Given the description of an element on the screen output the (x, y) to click on. 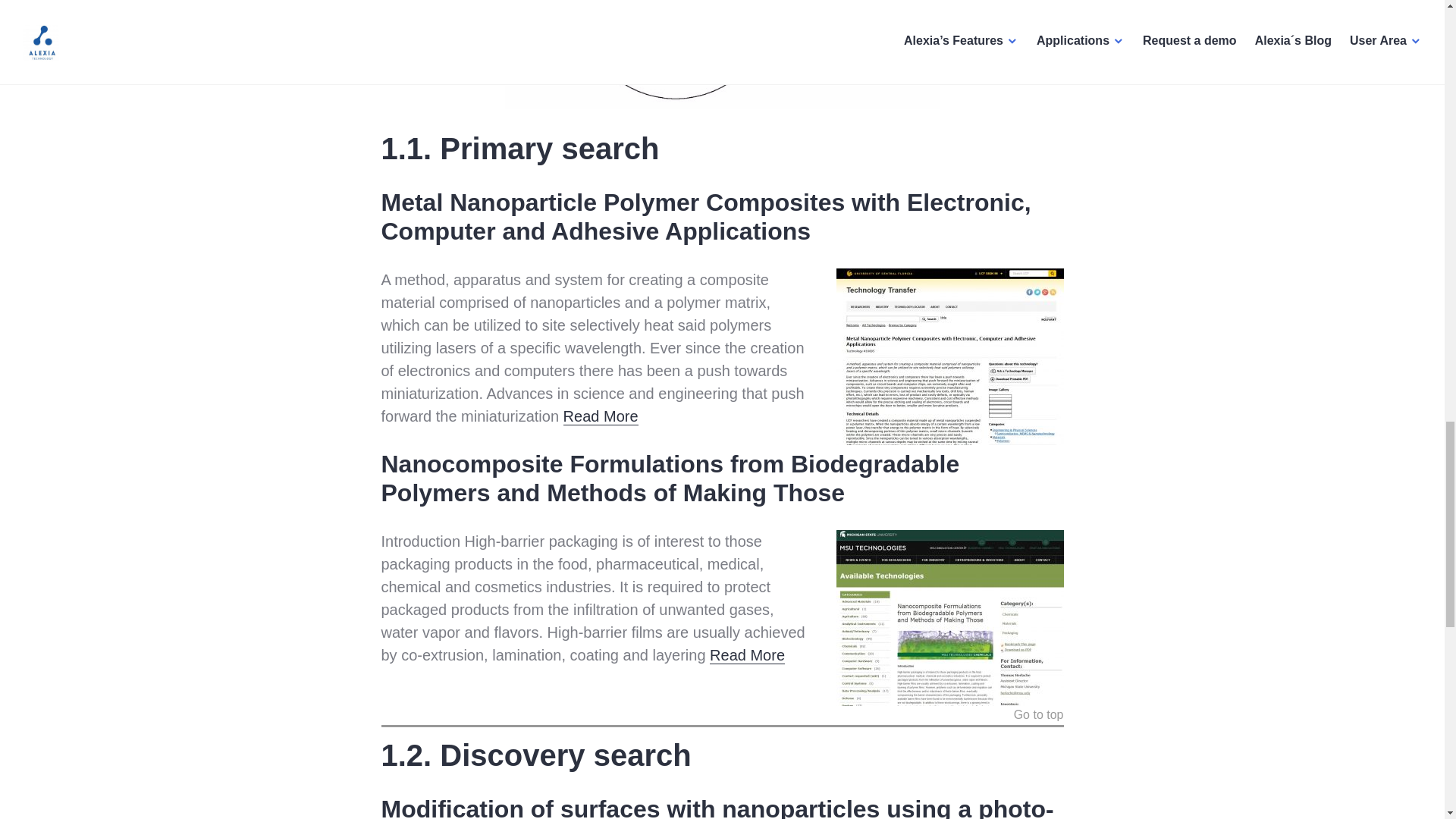
Read More (601, 416)
Go to top (1038, 716)
Read More (747, 655)
